Given the description of an element on the screen output the (x, y) to click on. 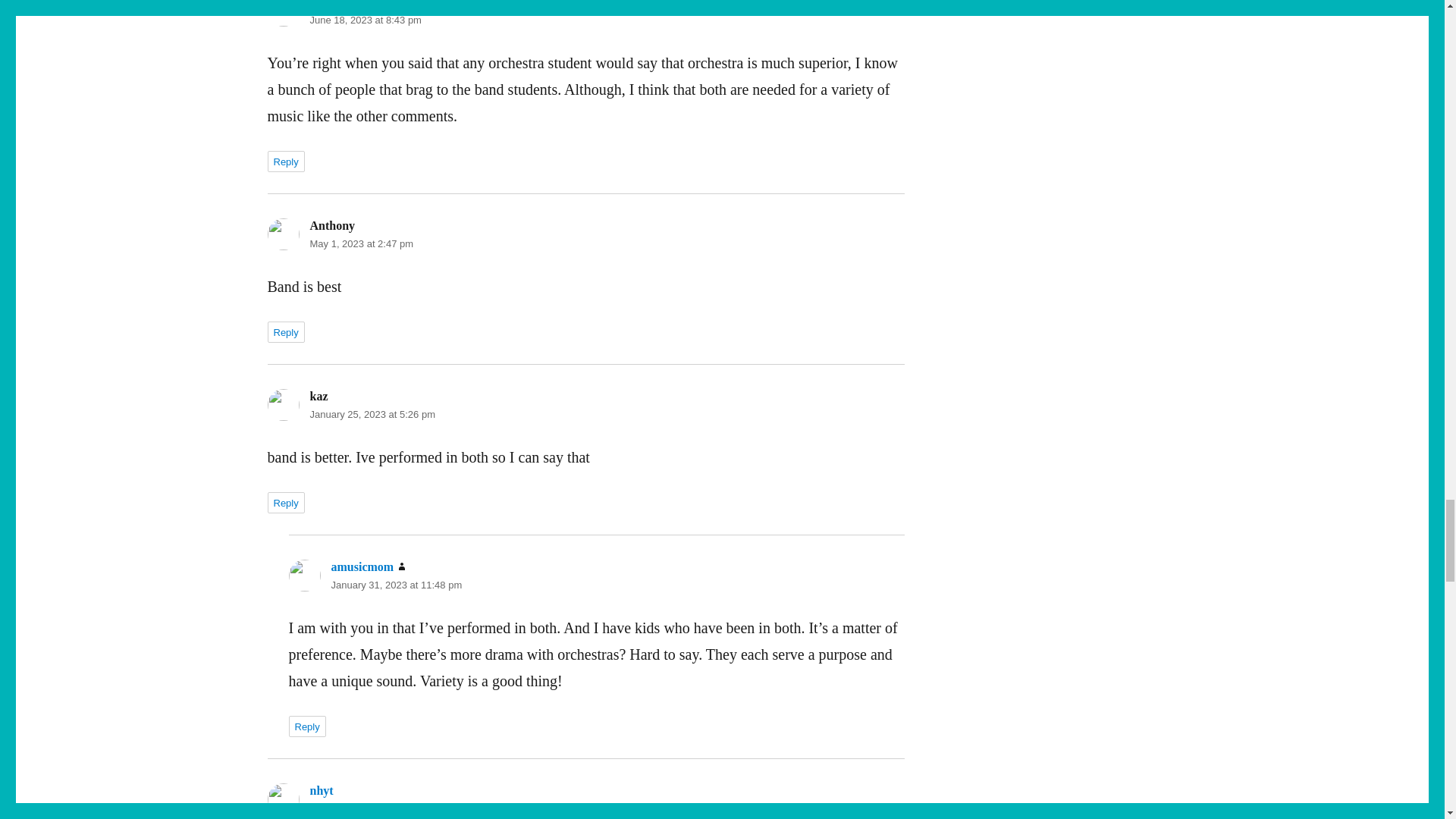
June 18, 2023 at 8:43 pm (364, 19)
Reply (285, 160)
A (313, 4)
May 1, 2023 at 2:47 pm (360, 243)
